Given the description of an element on the screen output the (x, y) to click on. 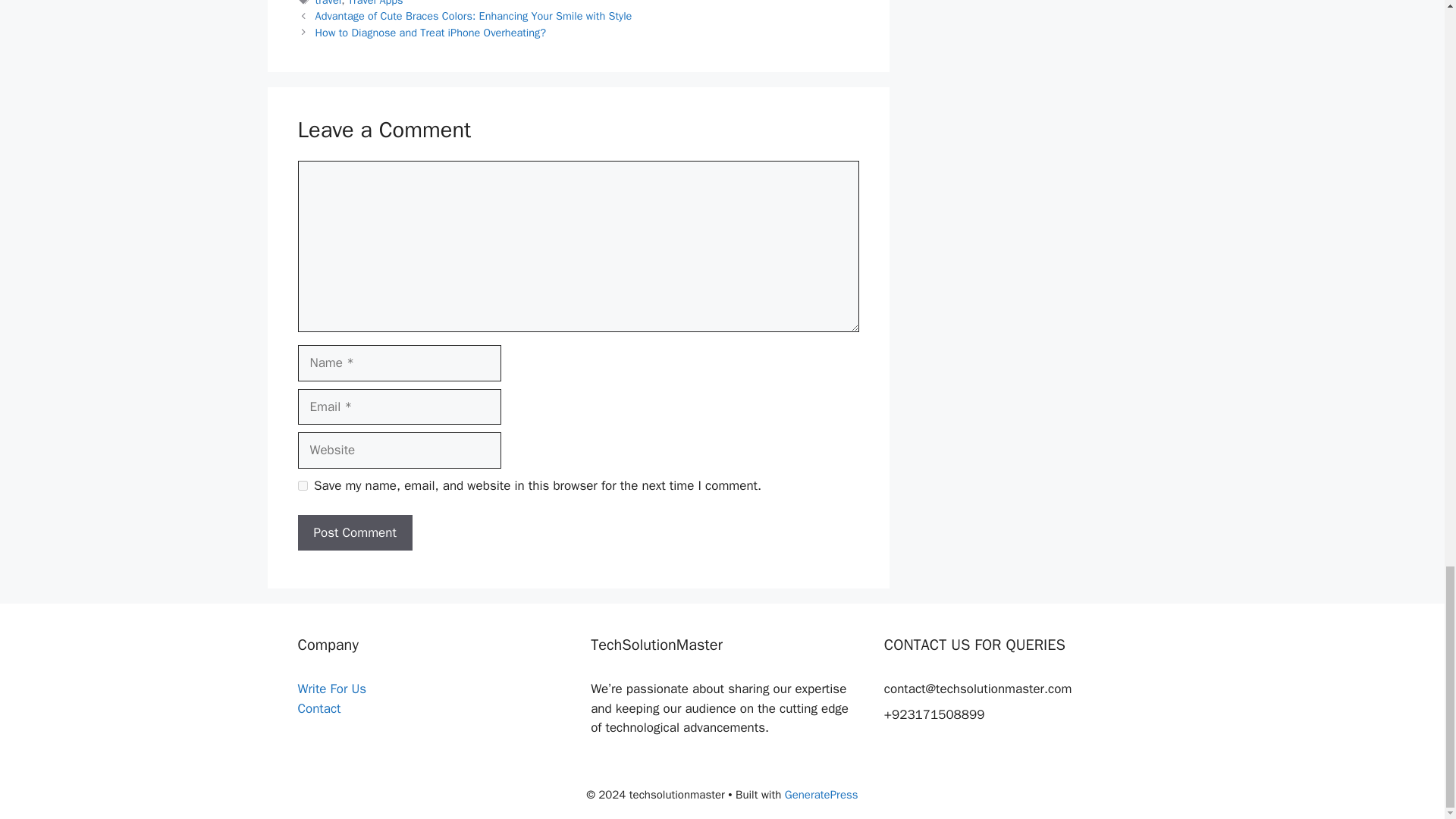
GeneratePress (821, 794)
Post Comment (354, 533)
travel (328, 3)
Travel Apps (375, 3)
How to Diagnose and Treat iPhone Overheating? (430, 32)
Contact (318, 708)
Write For Us (331, 688)
Post Comment (354, 533)
yes (302, 485)
